Given the description of an element on the screen output the (x, y) to click on. 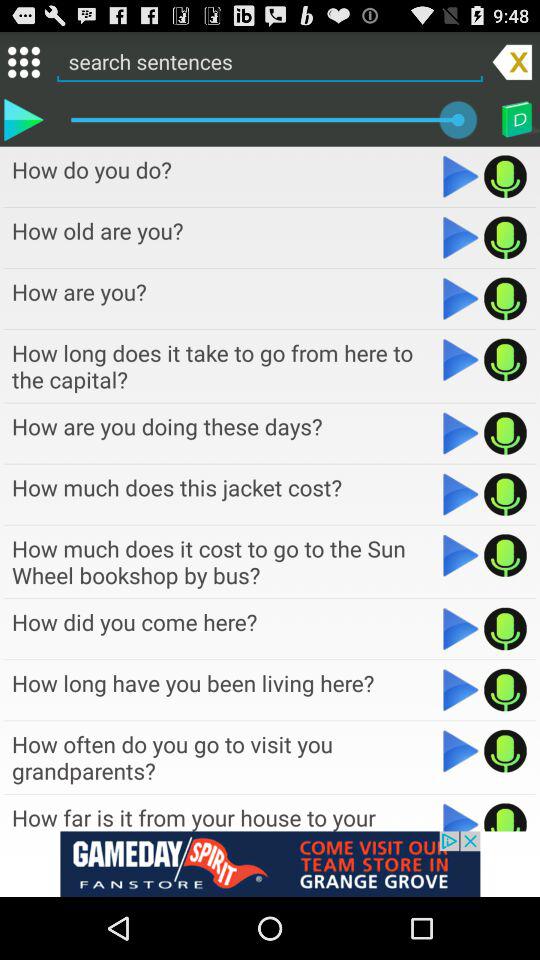
call (505, 298)
